Given the description of an element on the screen output the (x, y) to click on. 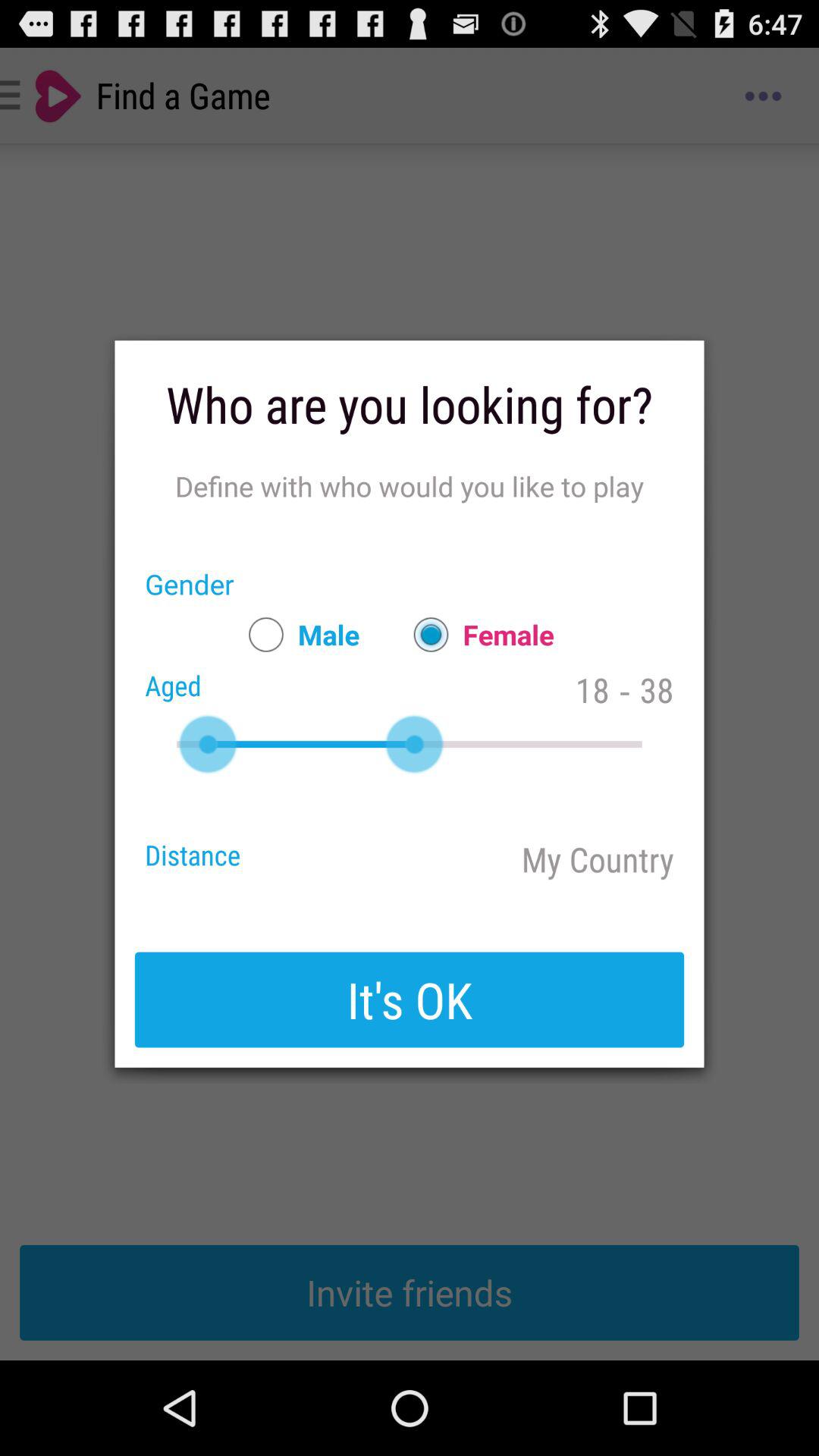
turn off the app to the left of 18 icon (476, 634)
